Given the description of an element on the screen output the (x, y) to click on. 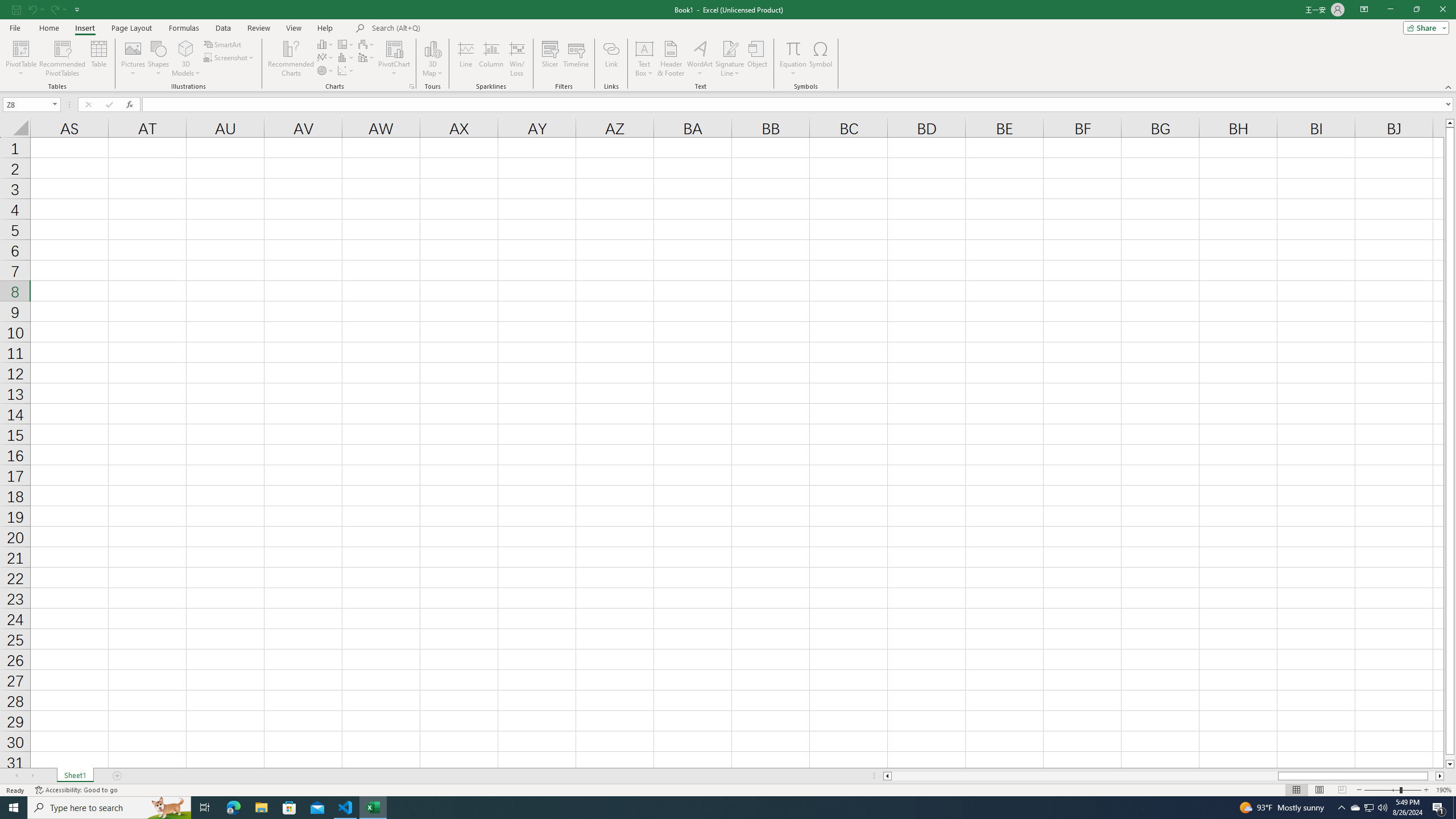
File Tab (15, 27)
Page left (1084, 775)
Text Box (643, 58)
3D Models (186, 58)
Customize Quick Access Toolbar (77, 9)
Zoom (1392, 790)
Object... (757, 58)
Line down (1449, 764)
Insert Line or Area Chart (325, 56)
Page right (1431, 775)
WordArt (699, 58)
